Given the description of an element on the screen output the (x, y) to click on. 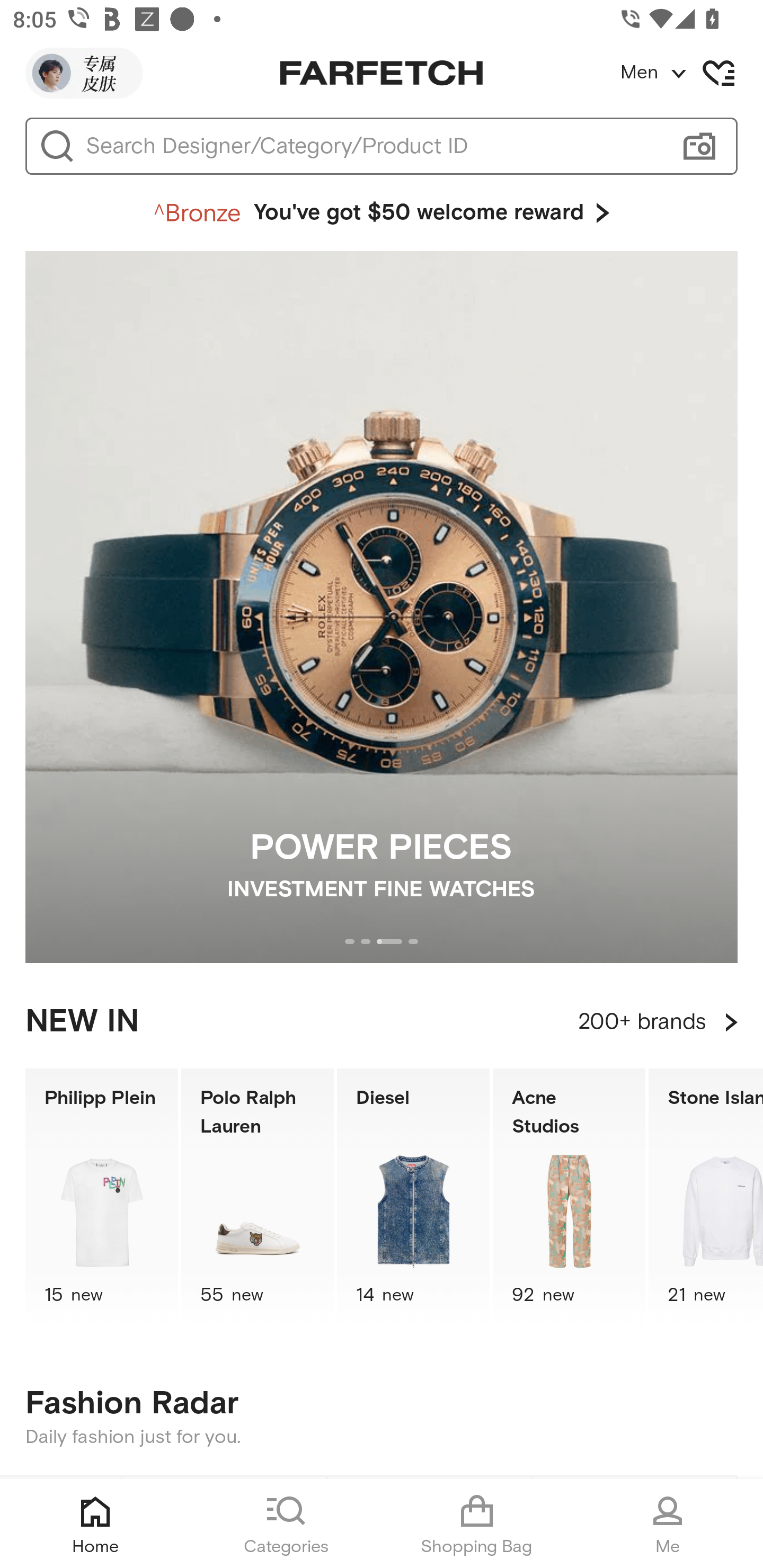
Men (691, 72)
Search Designer/Category/Product ID (373, 146)
You've got $50 welcome reward (381, 213)
NEW IN 200+ brands (381, 1021)
Philipp Plein 15  new (101, 1196)
Polo Ralph Lauren 55  new (257, 1196)
Diesel 14  new (413, 1196)
Acne Studios 92  new (568, 1196)
Stone Island 21  new (705, 1196)
Categories (285, 1523)
Shopping Bag (476, 1523)
Me (667, 1523)
